Given the description of an element on the screen output the (x, y) to click on. 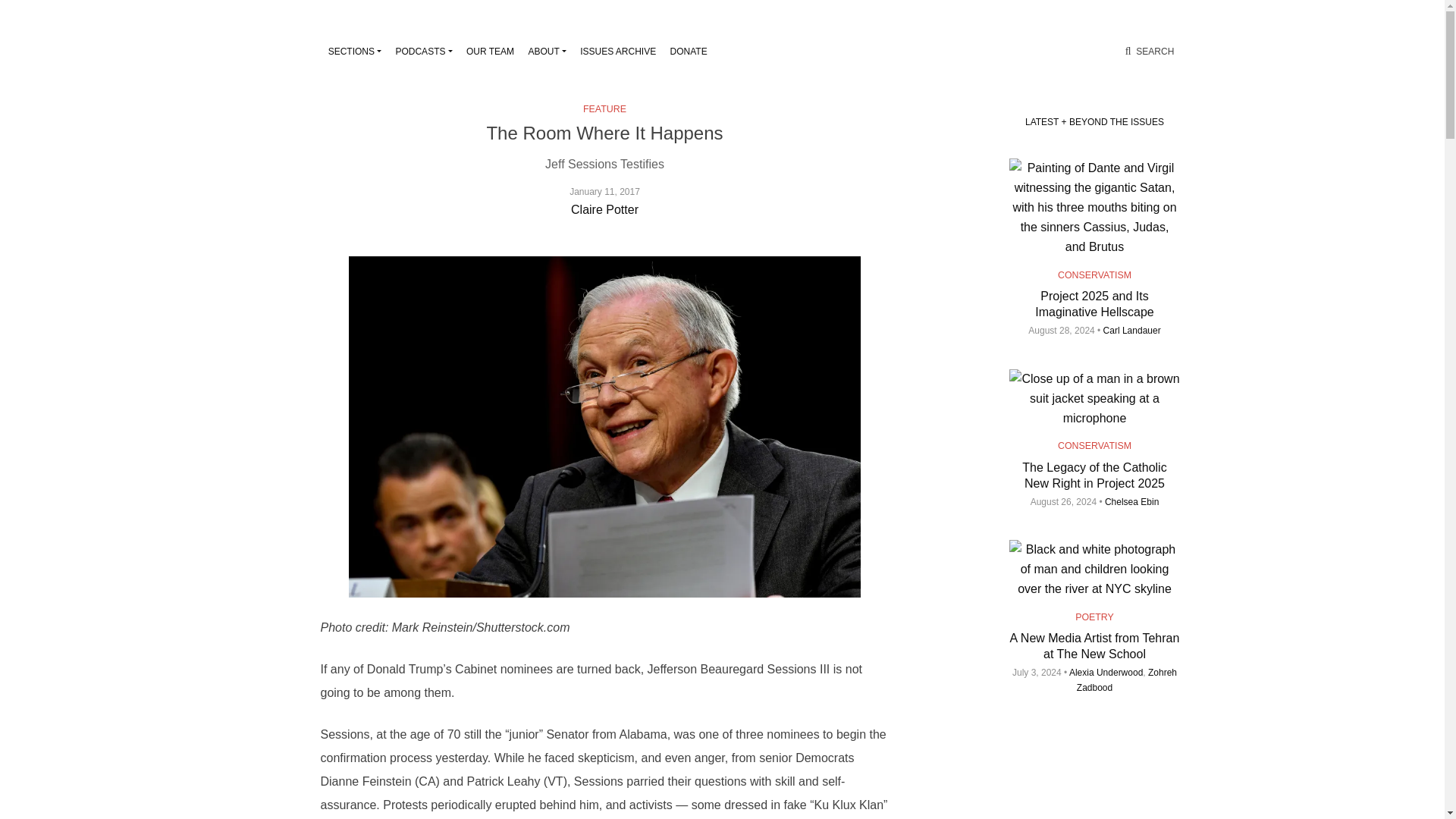
January 11, 2017 (603, 200)
OUR TEAM (490, 52)
ISSUES ARCHIVE (617, 52)
DONATE (688, 52)
ABOUT (547, 52)
FEATURE (604, 108)
PODCASTS (423, 52)
Podcasts (423, 52)
Claire Potter (604, 209)
SECTIONS (354, 52)
